Given the description of an element on the screen output the (x, y) to click on. 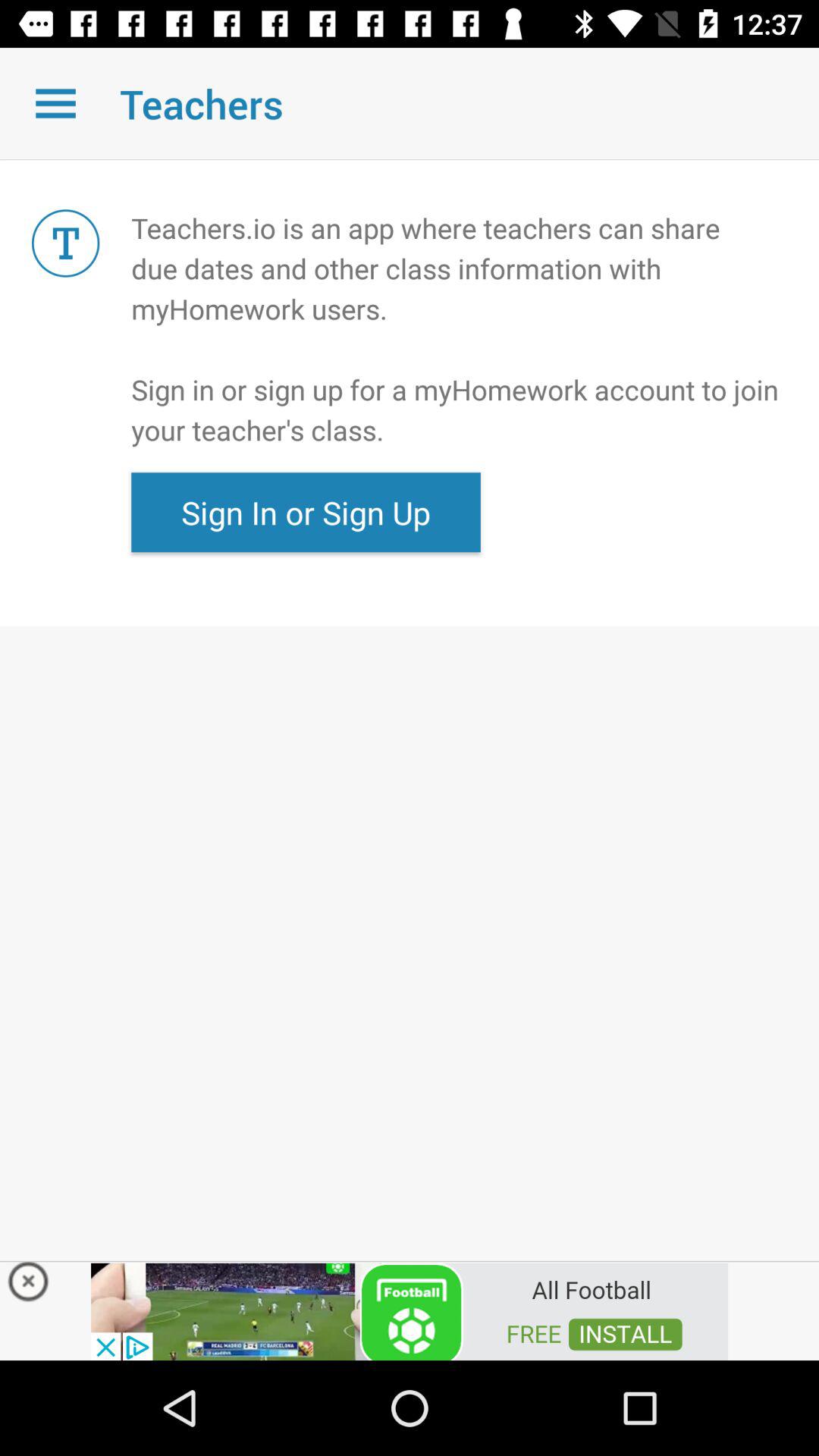
open drop down menu (55, 103)
